Given the description of an element on the screen output the (x, y) to click on. 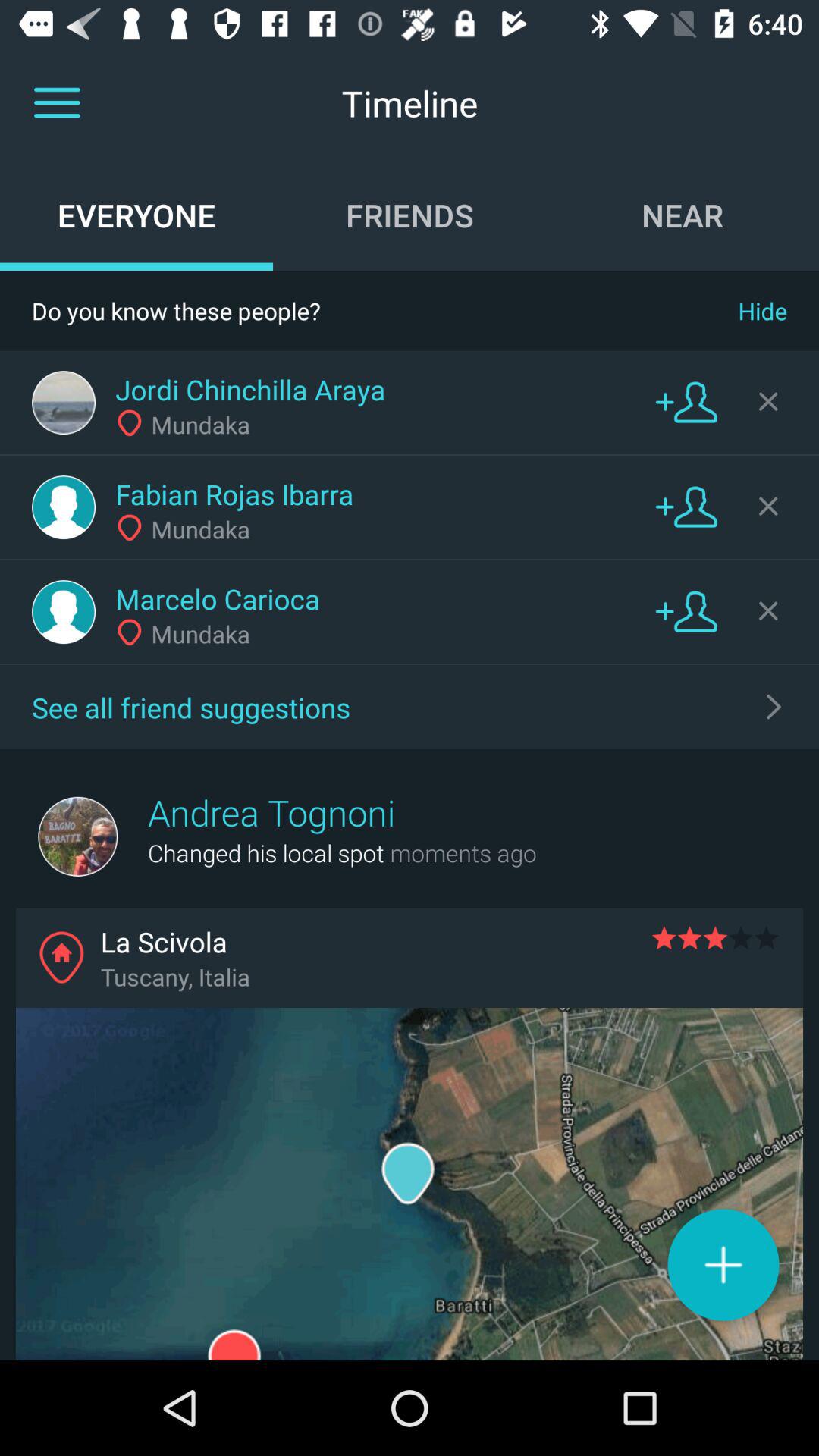
open the everyone icon (136, 214)
